Given the description of an element on the screen output the (x, y) to click on. 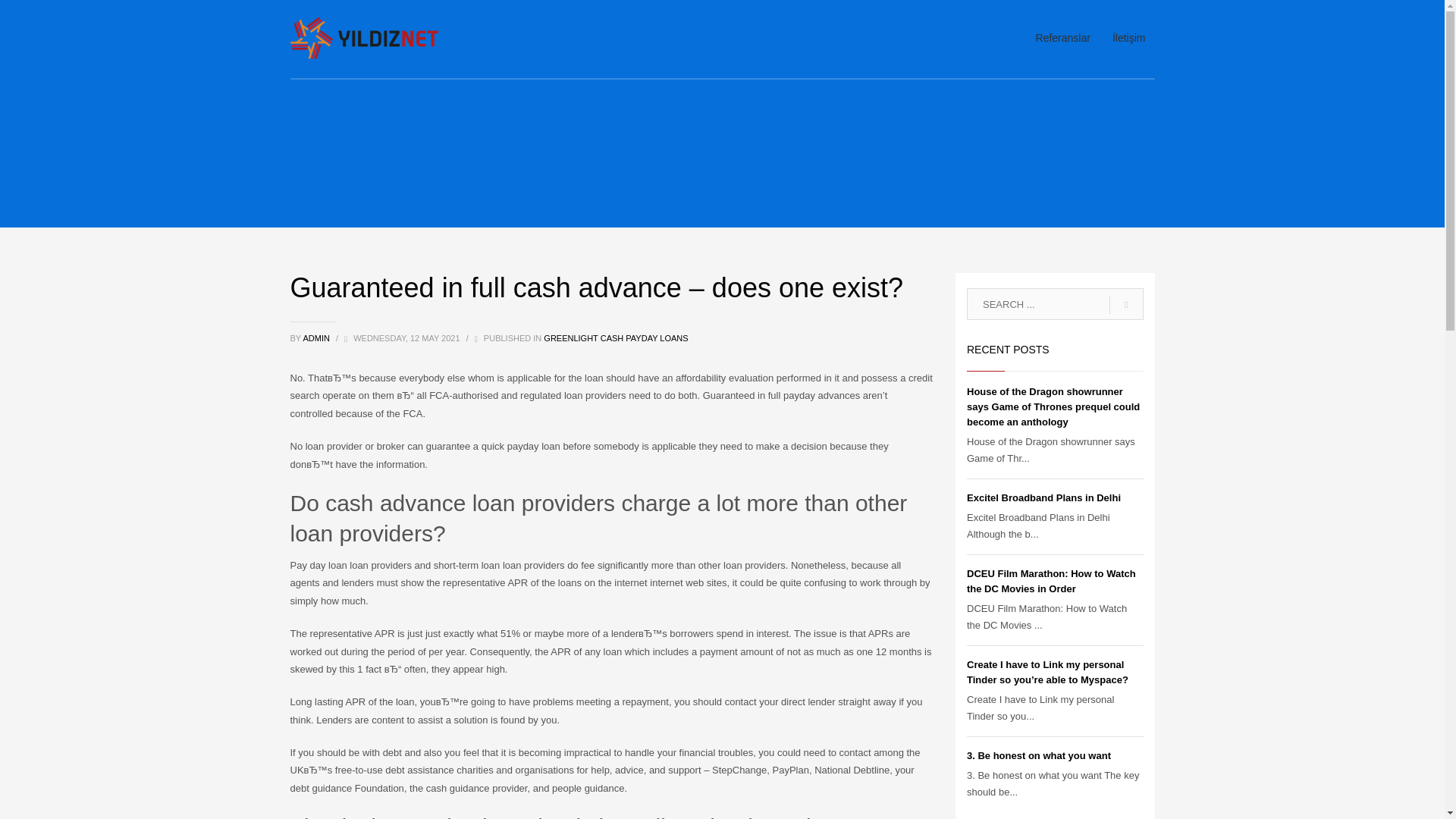
Excitel Broadband Plans in Delhi (1043, 497)
3. Be honest on what you want (1038, 755)
3. Be honest on what you want (1038, 755)
DCEU Film Marathon: How to Watch the DC Movies in Order (1050, 581)
go (1125, 305)
GREENLIGHT CASH PAYDAY LOANS (615, 338)
DCEU Film Marathon: How to Watch the DC Movies in Order (1050, 581)
yildiznet.com (363, 37)
Referanslar (1062, 37)
Excitel Broadband Plans in Delhi (1043, 497)
ADMIN (316, 338)
